Given the description of an element on the screen output the (x, y) to click on. 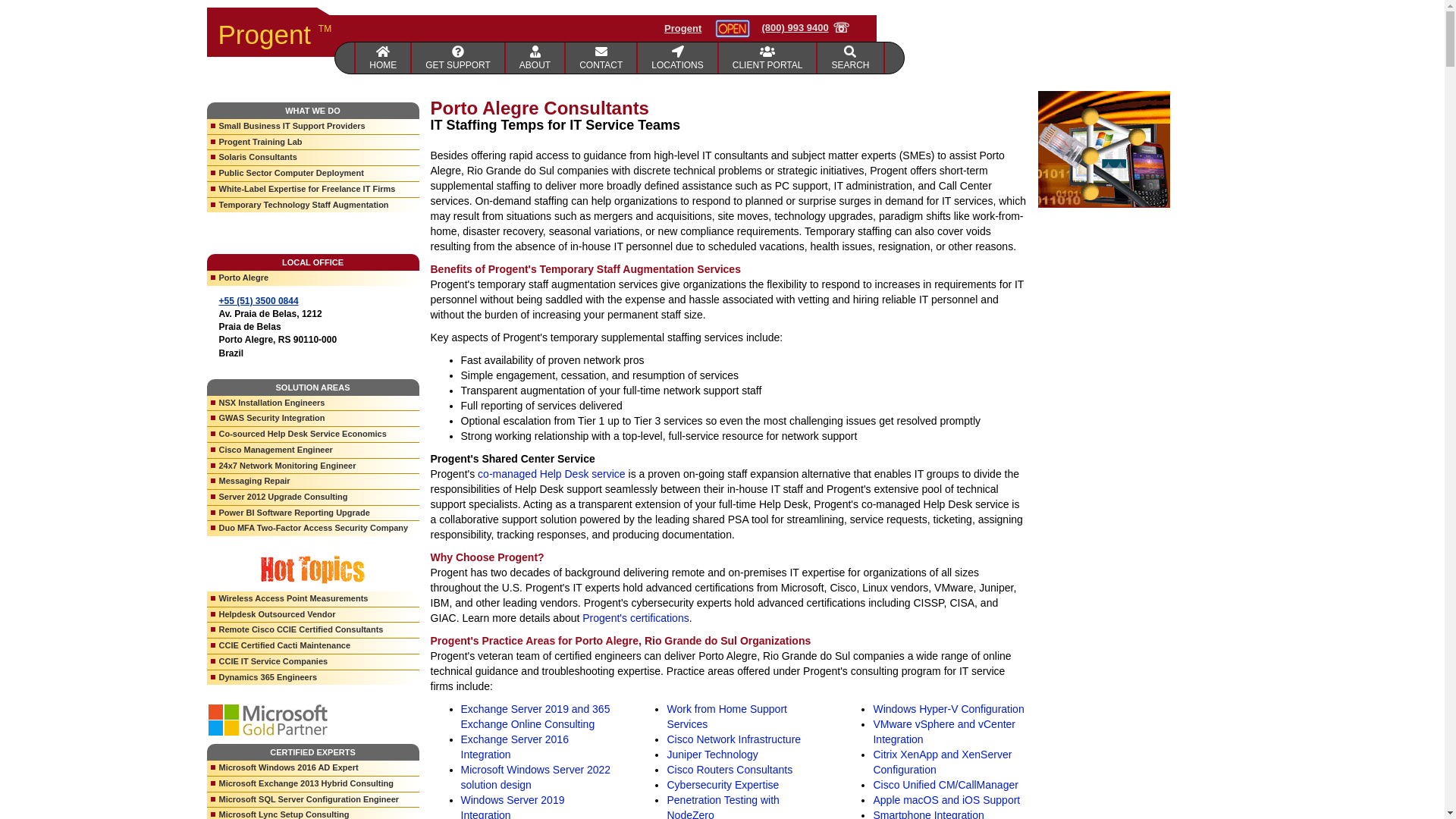
Shared Call Center Service (551, 473)
Microsoft Exchange Server 2016 Migration Experts (515, 746)
SEARCH (849, 57)
Progent Start-Up Companies Administration (458, 57)
CLIENT PORTAL (768, 57)
Progent (682, 29)
Microsoft Exchange Server 2019 Consulting (535, 716)
CONTACT (601, 57)
HOME (382, 57)
LOCATIONS (677, 57)
24 Hour Progent Phone Numbers (601, 57)
Microsoft Windows Server 2019 Consulting (512, 806)
Microsoft Windows Server 2022 Experts (536, 777)
Call for Support (804, 28)
Industry Certifications Earned by Progent's Experts (635, 617)
